Given the description of an element on the screen output the (x, y) to click on. 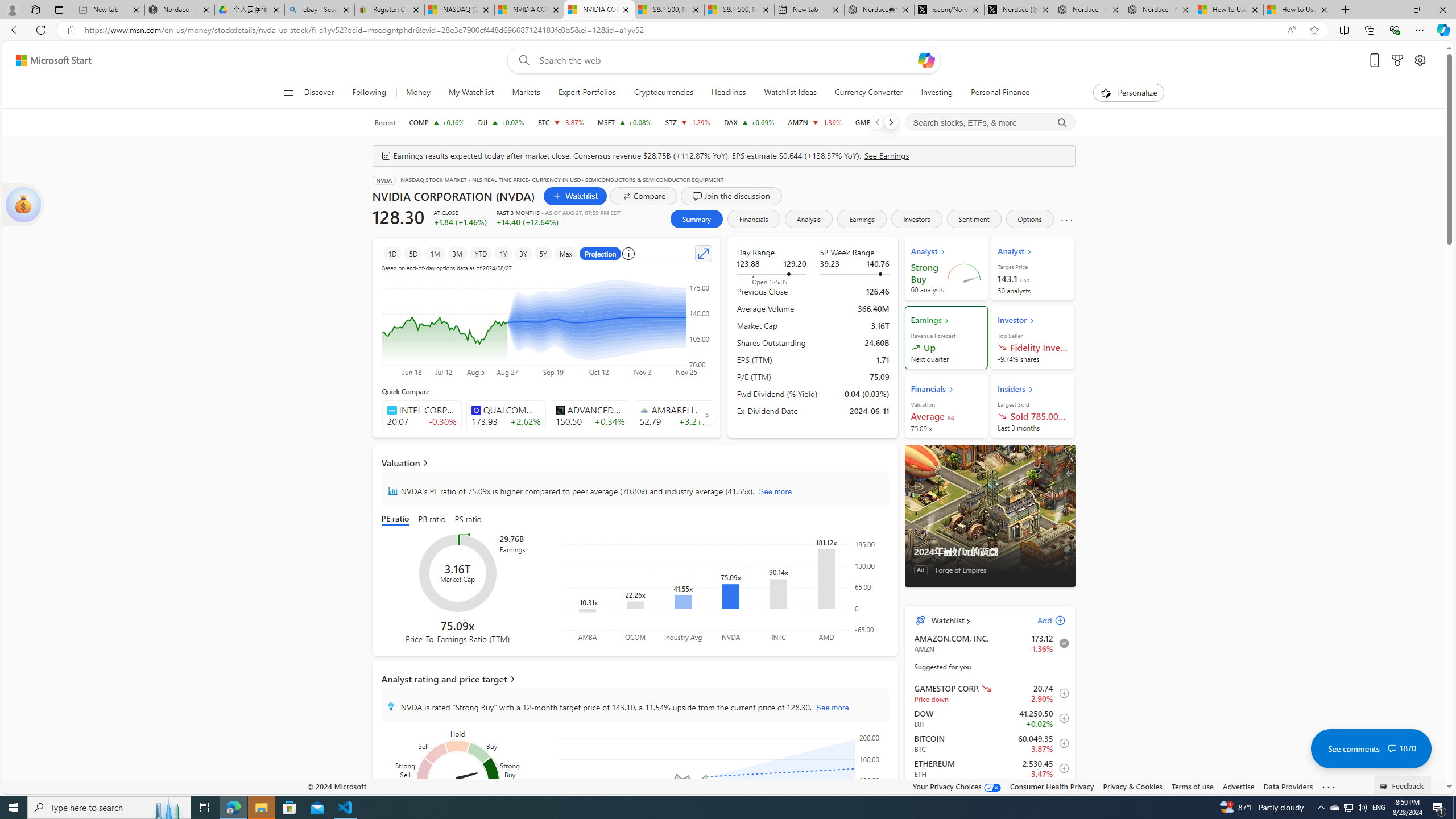
Ad (919, 569)
S&P 500, Nasdaq end lower, weighed by Nvidia dip | Watch (738, 9)
Personal Finance (1000, 92)
Class: autoSuggestIcon-DS-EntryPoint1-1 (644, 409)
Financials (753, 218)
Watchlist Ideas (789, 92)
Recent (385, 121)
Privacy & Cookies (1131, 786)
Cryptocurrencies (663, 92)
Register: Create a personal eBay account (389, 9)
